Given the description of an element on the screen output the (x, y) to click on. 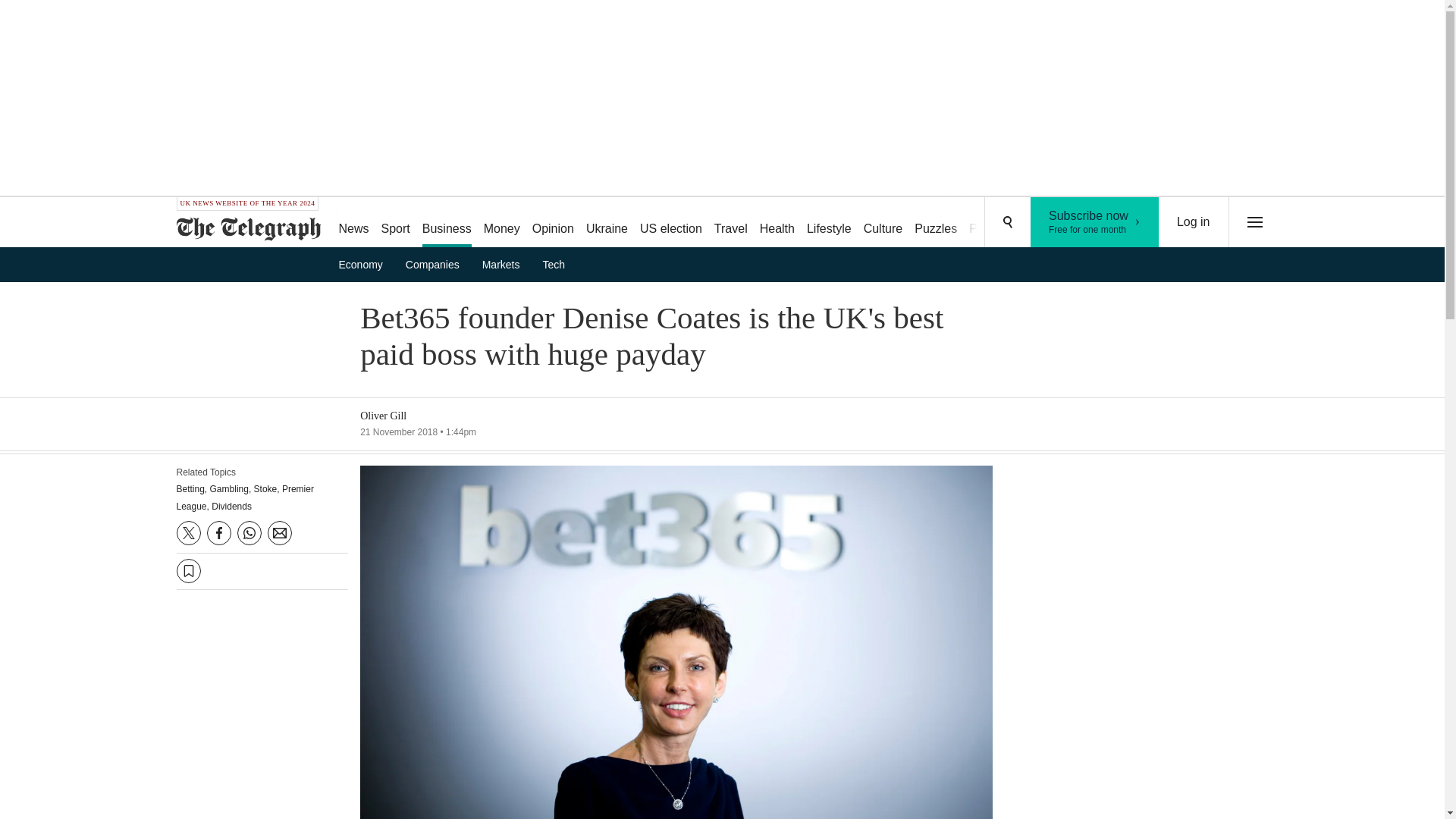
Travel (730, 223)
Podcasts (993, 223)
Log in (1193, 222)
Health (777, 223)
Ukraine (606, 223)
Opinion (552, 223)
Companies (1094, 222)
Business (437, 264)
Culture (446, 223)
